Given the description of an element on the screen output the (x, y) to click on. 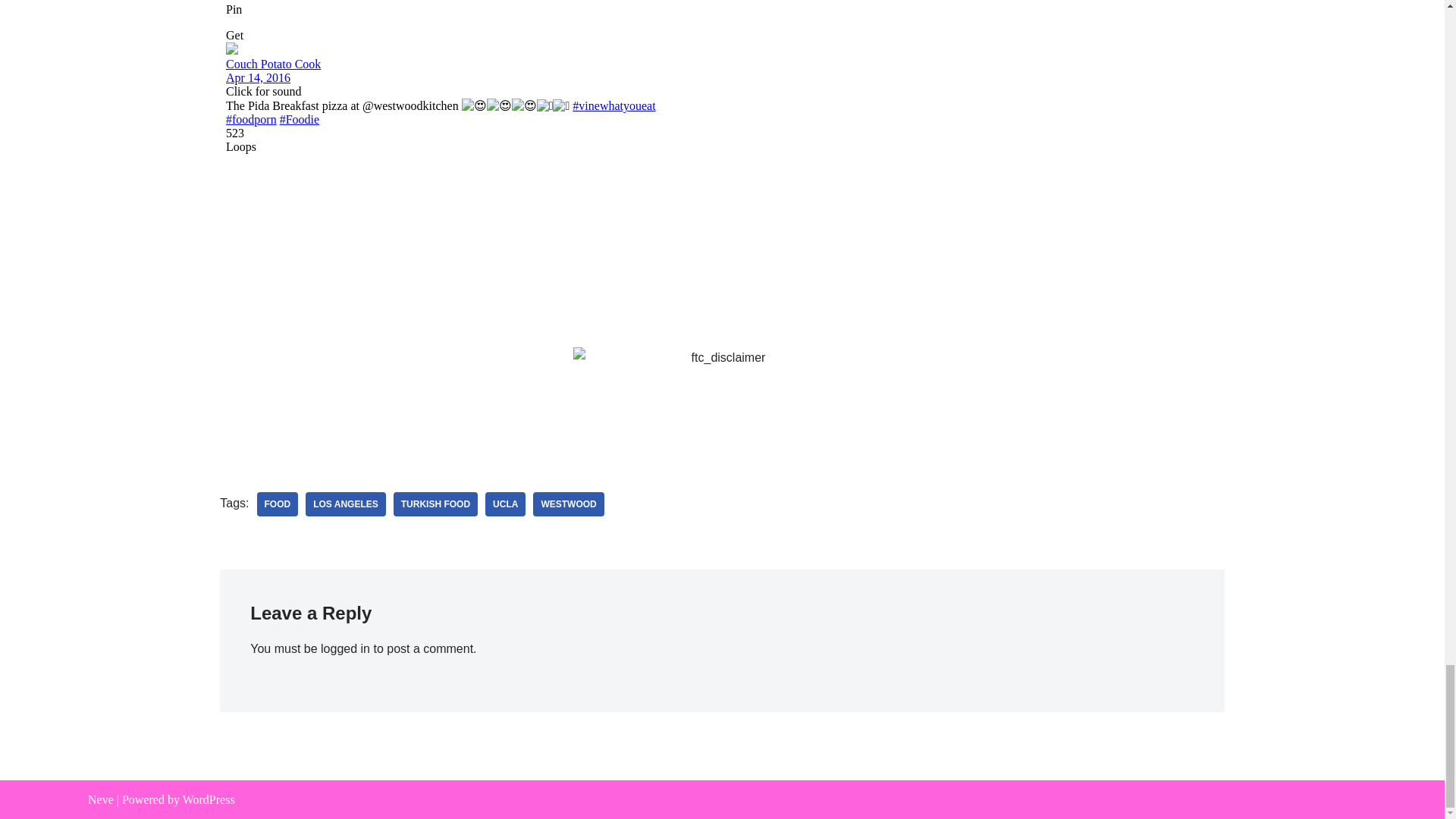
WESTWOOD (568, 504)
FOOD (277, 504)
LOS ANGELES (345, 504)
UCLA (504, 504)
logged in (344, 648)
WordPress (208, 799)
Neve (100, 799)
TURKISH FOOD (435, 504)
